Given the description of an element on the screen output the (x, y) to click on. 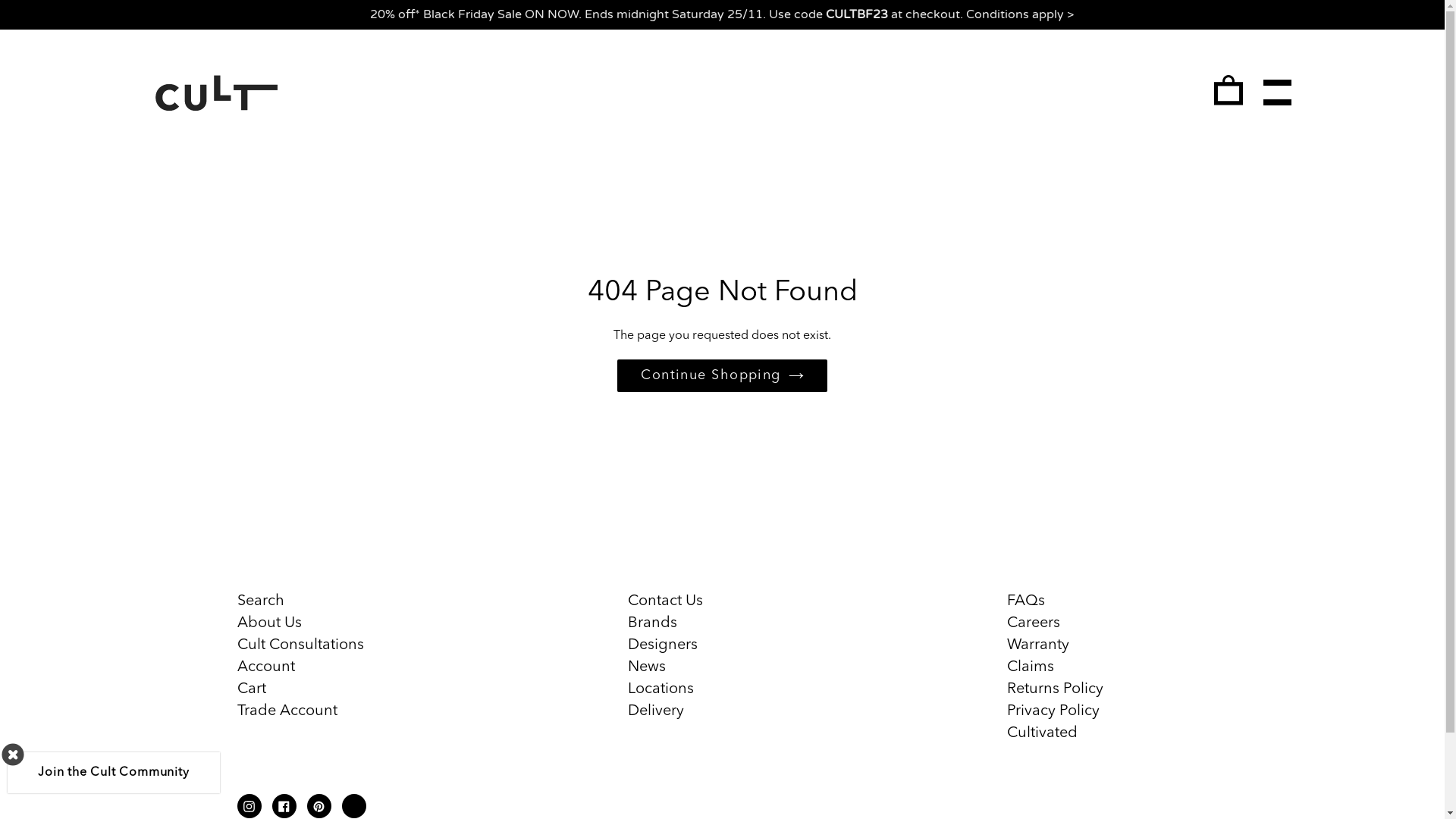
Designers Element type: text (662, 644)
Trade Account Element type: text (286, 710)
Cultivated Element type: text (1042, 732)
About Us Element type: text (268, 622)
Privacy Policy Element type: text (1053, 710)
Linkdin Element type: text (353, 805)
FAQs Element type: text (1025, 600)
News Element type: text (646, 666)
Locations Element type: text (660, 688)
Contact Us Element type: text (664, 600)
Warranty Element type: text (1038, 644)
Claims Element type: text (1030, 666)
Search Element type: text (259, 600)
Instagram Element type: text (248, 805)
Brands Element type: text (652, 622)
Continue Shopping Element type: text (721, 375)
Delivery Element type: text (655, 710)
Cart Element type: text (250, 688)
Returns Policy Element type: text (1055, 688)
Careers Element type: text (1033, 622)
Account Element type: text (265, 666)
Cult Consultations Element type: text (299, 644)
Join the Cult Community Element type: text (113, 772)
Pinterest Element type: text (318, 805)
Facebook Element type: text (283, 805)
